Given the description of an element on the screen output the (x, y) to click on. 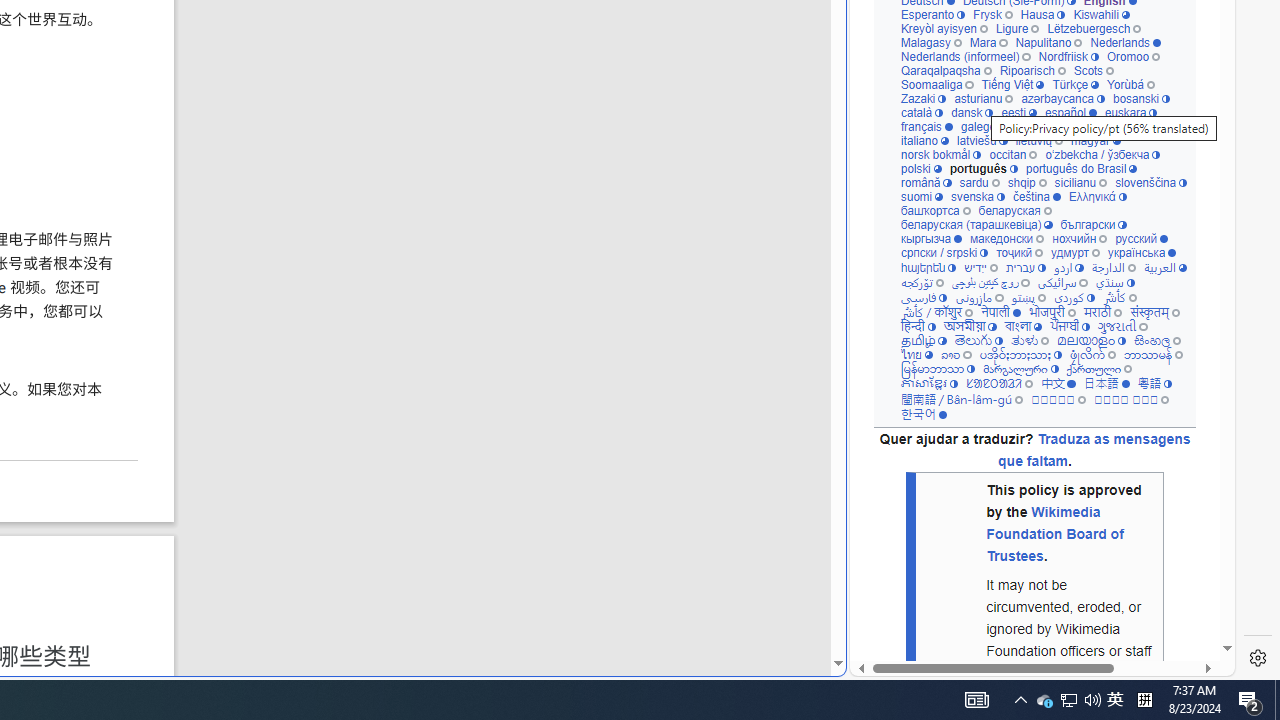
Soomaaliga (936, 84)
occitan (1013, 154)
galego (983, 125)
MSN (687, 223)
occitan (1013, 154)
